Given the description of an element on the screen output the (x, y) to click on. 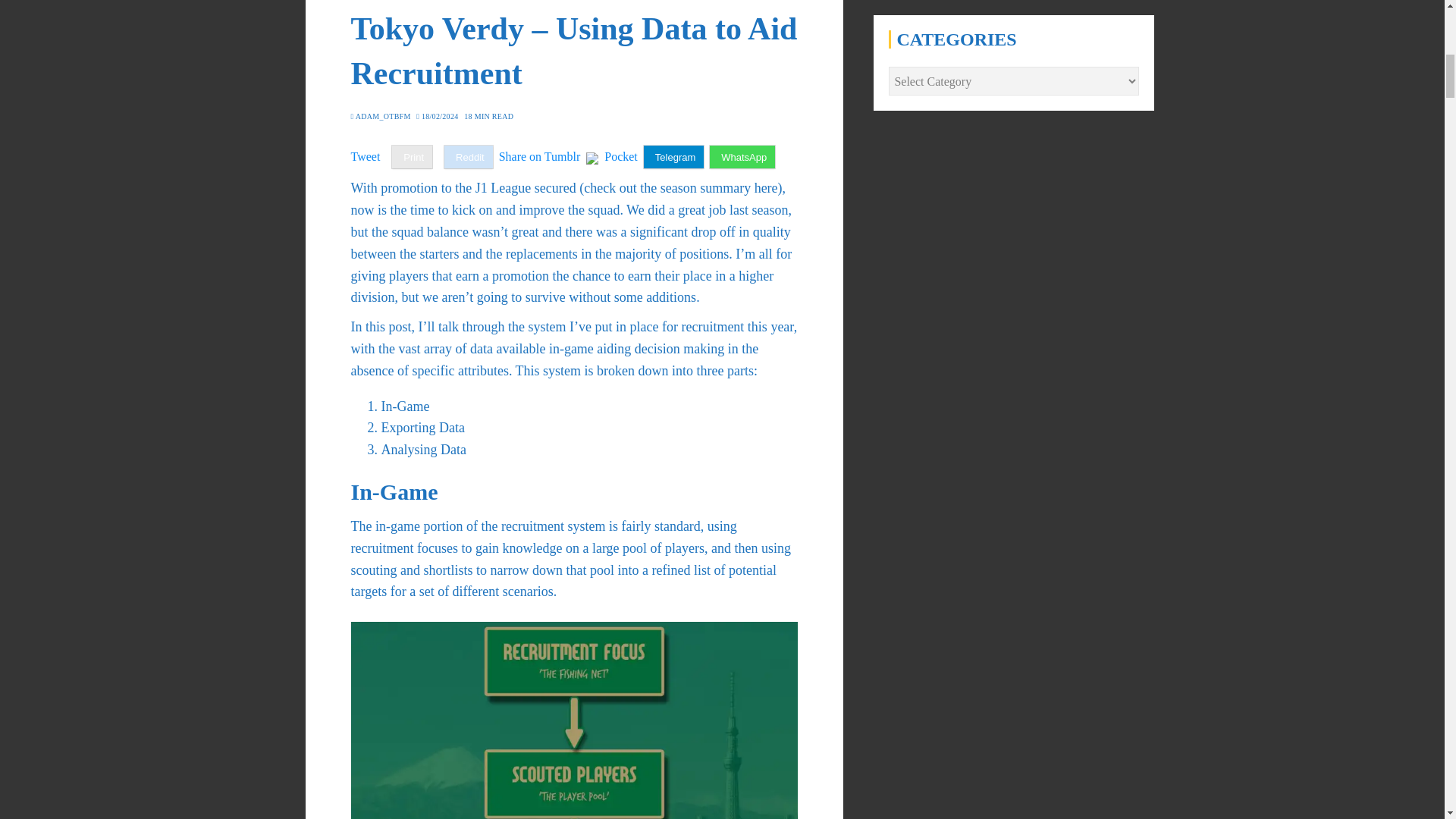
Share on Tumblr (539, 155)
Click to print (411, 156)
WhatsApp (742, 156)
Print (411, 156)
Reddit (468, 156)
Click to share on Telegram (673, 156)
Pocket (620, 155)
Click to share on Reddit (468, 156)
Tweet (365, 155)
Telegram (673, 156)
